Given the description of an element on the screen output the (x, y) to click on. 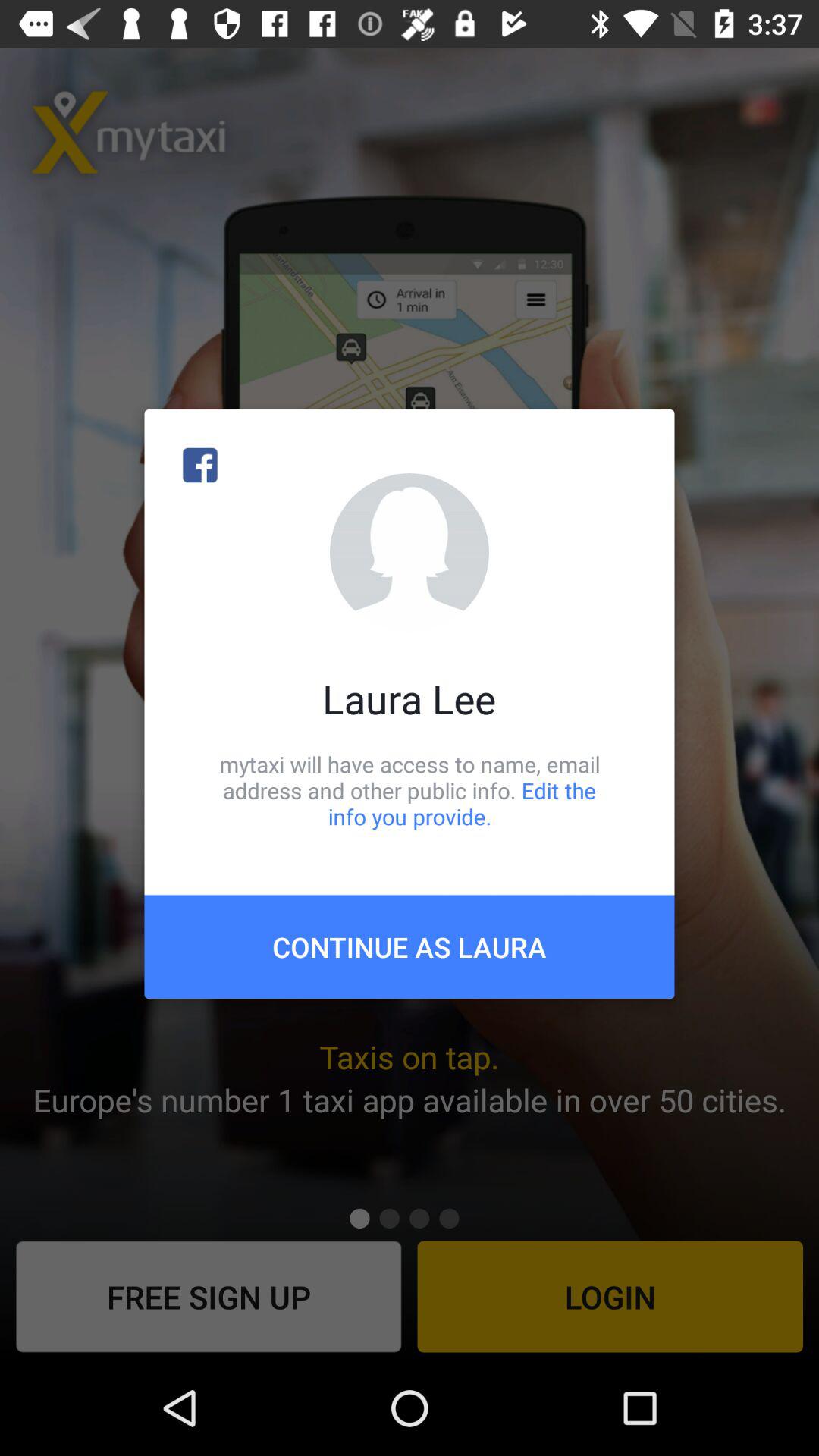
click mytaxi will have icon (409, 790)
